Given the description of an element on the screen output the (x, y) to click on. 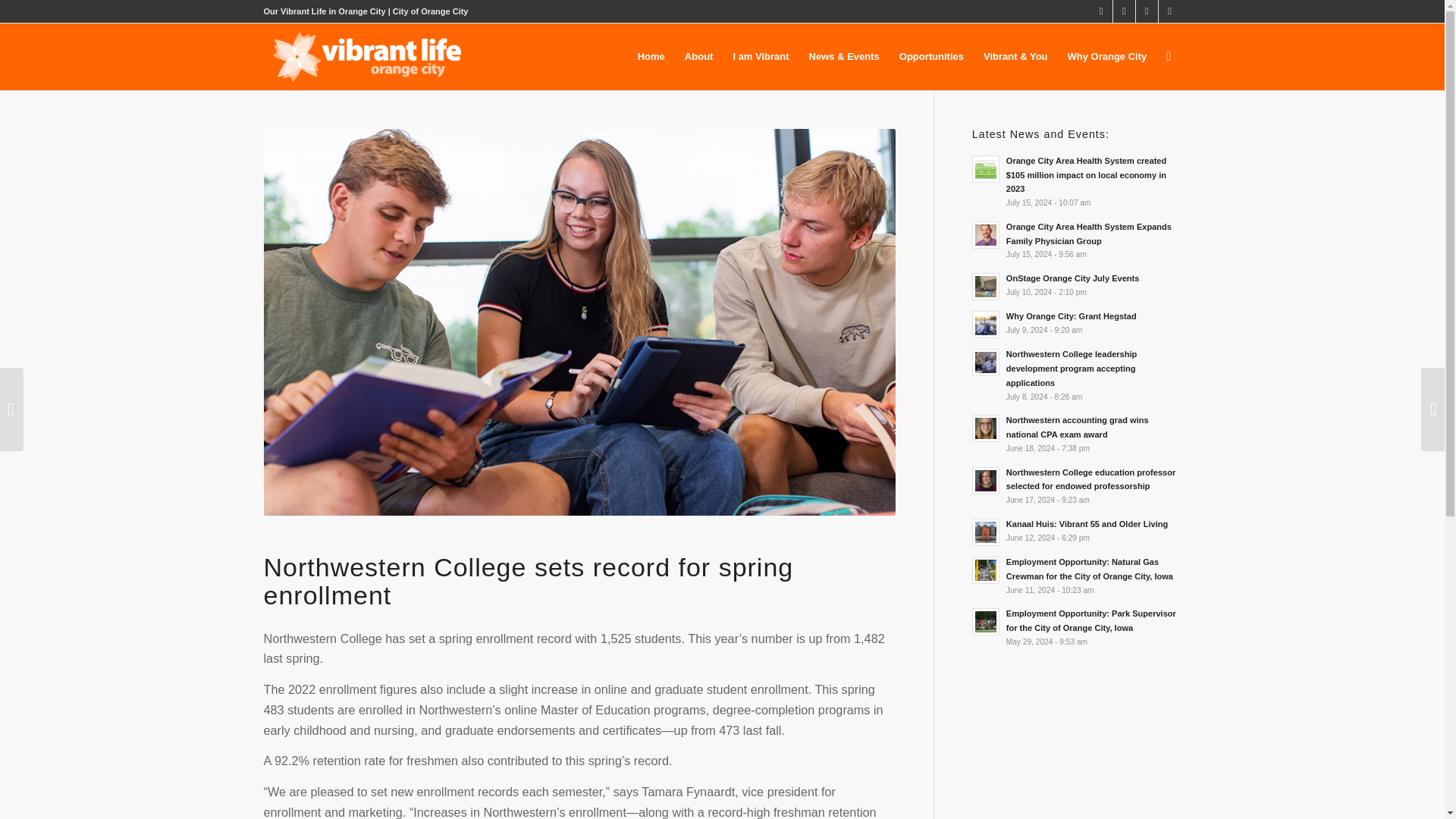
I am Vibrant (759, 56)
Opportunities (931, 56)
Facebook (1124, 11)
Our Vibrant Life in Orange City (324, 10)
Youtube (1169, 11)
Read: OnStage Orange City July Events (1073, 277)
Why Orange City (1107, 56)
Instagram (1146, 11)
City of Orange City (430, 10)
Read: Why Orange City: Grant Hegstad (1071, 316)
Read: OnStage Orange City July Events (985, 286)
